Given the description of an element on the screen output the (x, y) to click on. 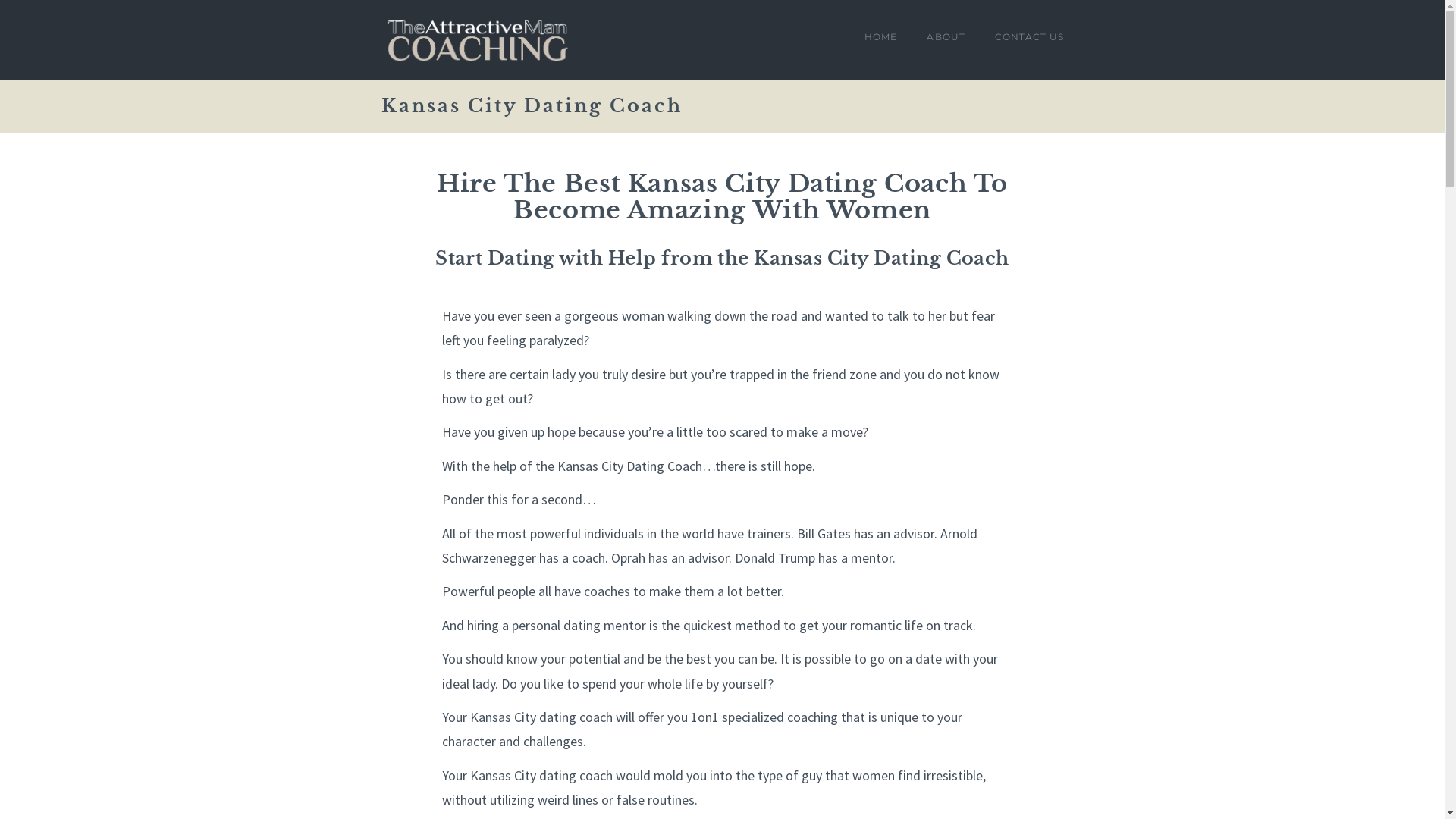
HOME Element type: text (880, 39)
ABOUT Element type: text (945, 39)
CONTACT US Element type: text (1021, 39)
